Given the description of an element on the screen output the (x, y) to click on. 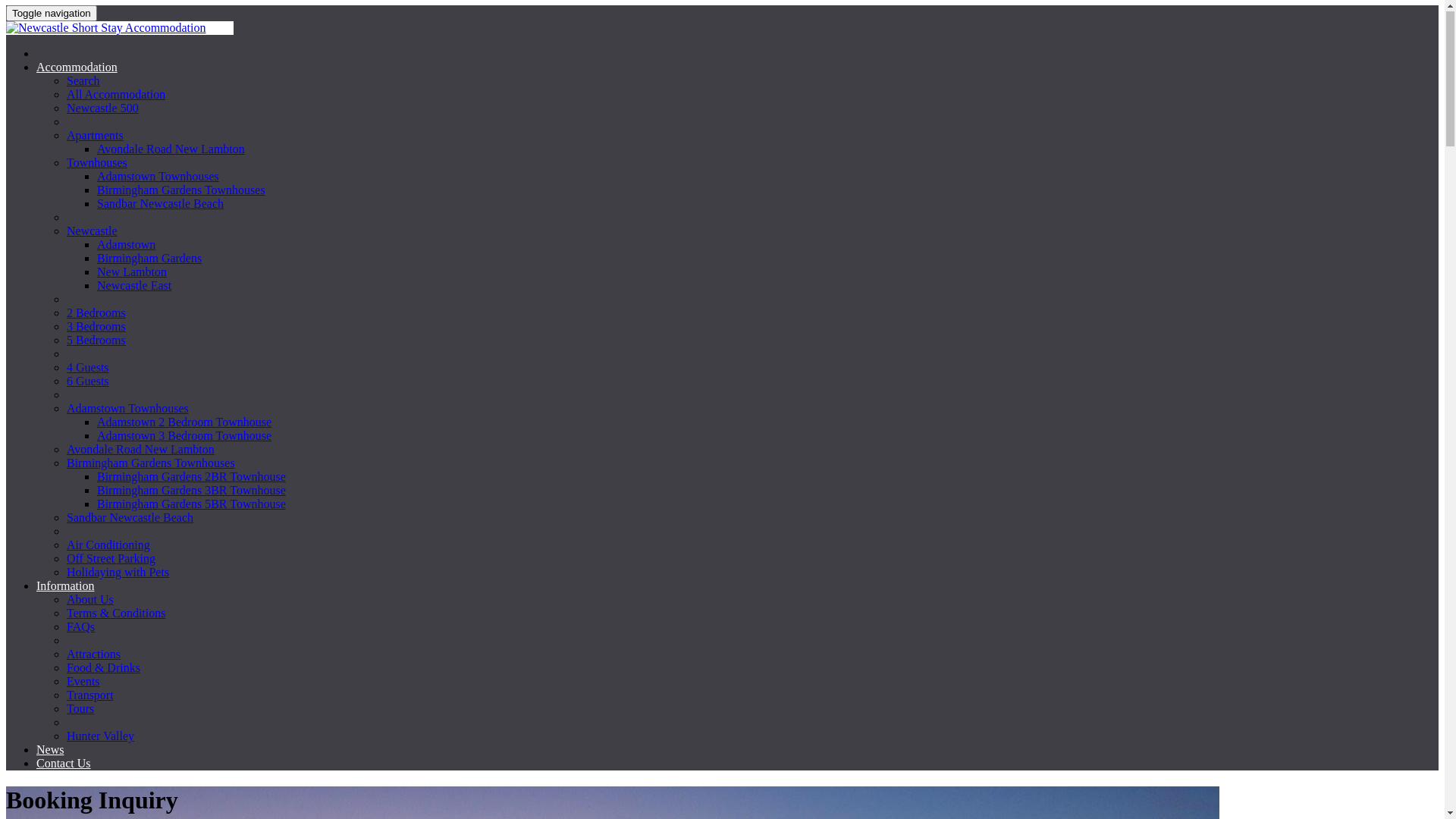
Townhouses Element type: text (96, 162)
About Us Element type: text (89, 599)
Accommodation Element type: text (76, 67)
Newcastle East Element type: text (134, 285)
Sandbar Newcastle Beach Element type: text (160, 203)
Apartments Element type: text (94, 135)
Off Street Parking Element type: text (110, 558)
Information Element type: text (65, 586)
New Lambton Element type: text (131, 272)
Newcastle 500 Element type: text (102, 108)
Birmingham Gardens Townhouses Element type: text (150, 463)
Adamstown Townhouses Element type: text (158, 176)
Newcastle Element type: text (91, 231)
Avondale Road New Lambton Element type: text (170, 149)
Transport Element type: text (89, 695)
Adamstown 3 Bedroom Townhouse Element type: text (184, 435)
All Accommodation Element type: text (115, 94)
Birmingham Gardens Townhouses Element type: text (181, 190)
News Element type: text (49, 749)
Tours Element type: text (80, 708)
Search Element type: text (83, 81)
Contact Us Element type: text (63, 763)
Adamstown 2 Bedroom Townhouse Element type: text (184, 422)
5 Bedrooms Element type: text (95, 340)
2 Bedrooms Element type: text (95, 313)
Air Conditioning Element type: text (108, 545)
Holidaying with Pets Element type: text (117, 572)
Avondale Road New Lambton Element type: text (140, 449)
Adamstown Townhouses Element type: text (127, 408)
Birmingham Gardens 5BR Townhouse Element type: text (191, 504)
Birmingham Gardens 3BR Townhouse Element type: text (191, 490)
Adamstown Element type: text (126, 244)
3 Bedrooms Element type: text (95, 326)
Events Element type: text (83, 681)
Birmingham Gardens Element type: text (149, 258)
Sandbar Newcastle Beach Element type: text (129, 517)
4 Guests Element type: text (87, 367)
6 Guests Element type: text (87, 381)
Home (current) Element type: text (73, 53)
Food & Drinks Element type: text (103, 668)
Birmingham Gardens 2BR Townhouse Element type: text (191, 476)
FAQs Element type: text (80, 627)
Attractions Element type: text (93, 654)
Toggle navigation Element type: text (51, 13)
Hunter Valley Element type: text (100, 736)
Terms & Conditions Element type: text (115, 613)
